Given the description of an element on the screen output the (x, y) to click on. 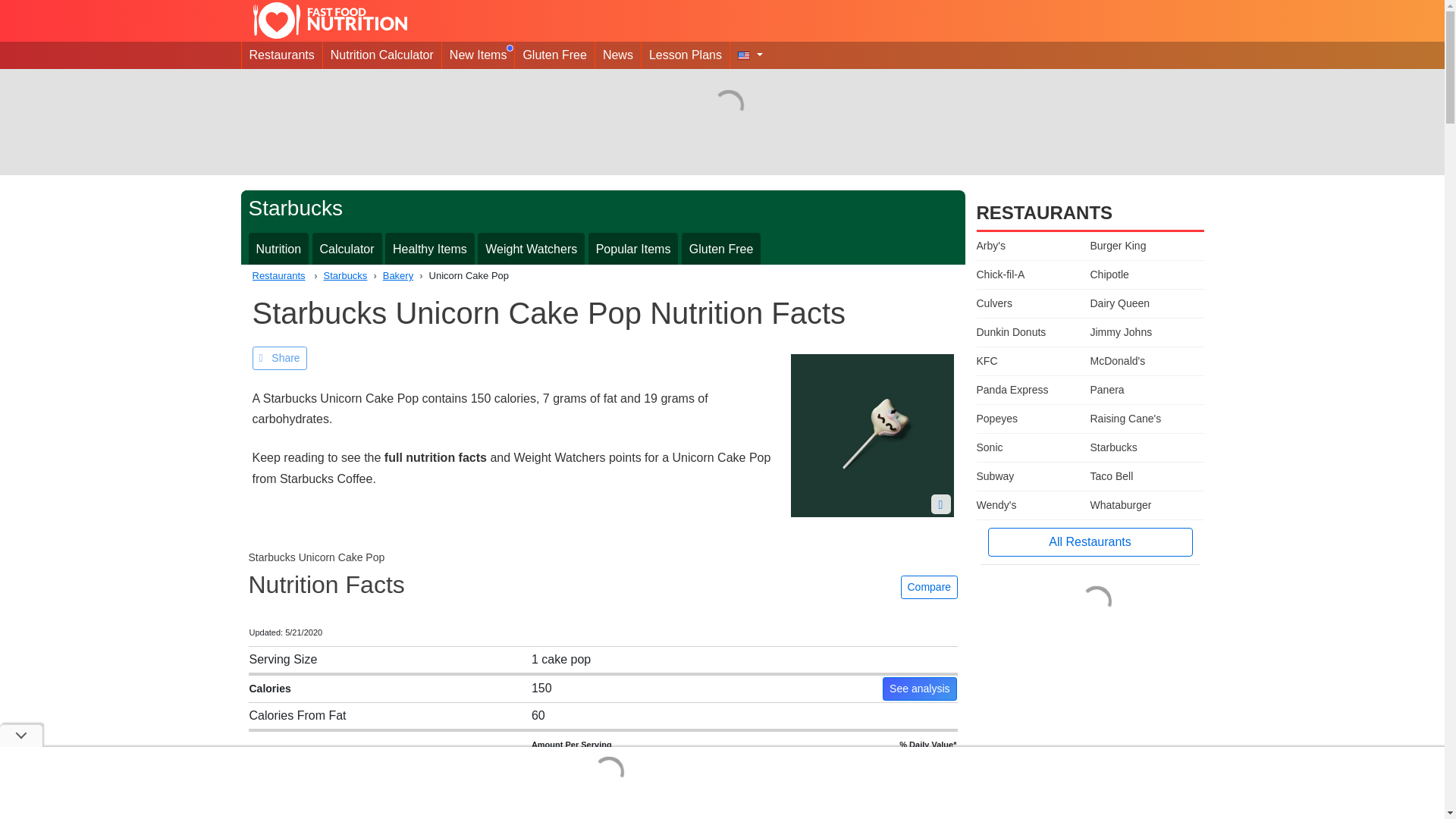
Nutrition Calculator (382, 54)
Serving Size (282, 658)
Fast Food Nutrition (330, 20)
Fast Food Nutrition News (617, 54)
Bakery (389, 275)
New Items (478, 54)
See analysis (919, 689)
Switch countries (750, 54)
Restaurants StarbucksBakeryUnicorn Cake Pop (602, 275)
